Given the description of an element on the screen output the (x, y) to click on. 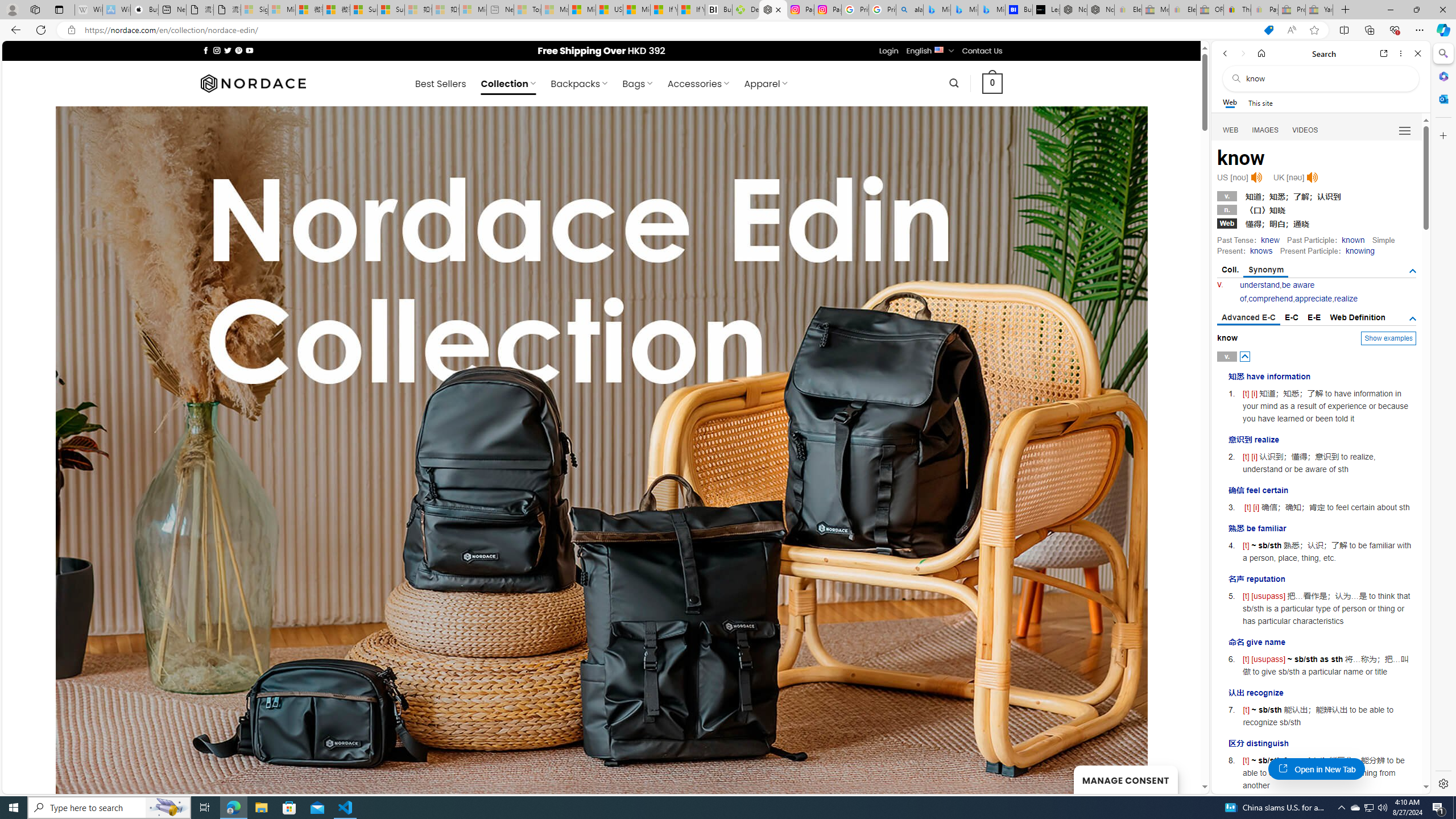
Microsoft Bing Travel - Flights from Hong Kong to Bangkok (936, 9)
WEB (1231, 130)
